Given the description of an element on the screen output the (x, y) to click on. 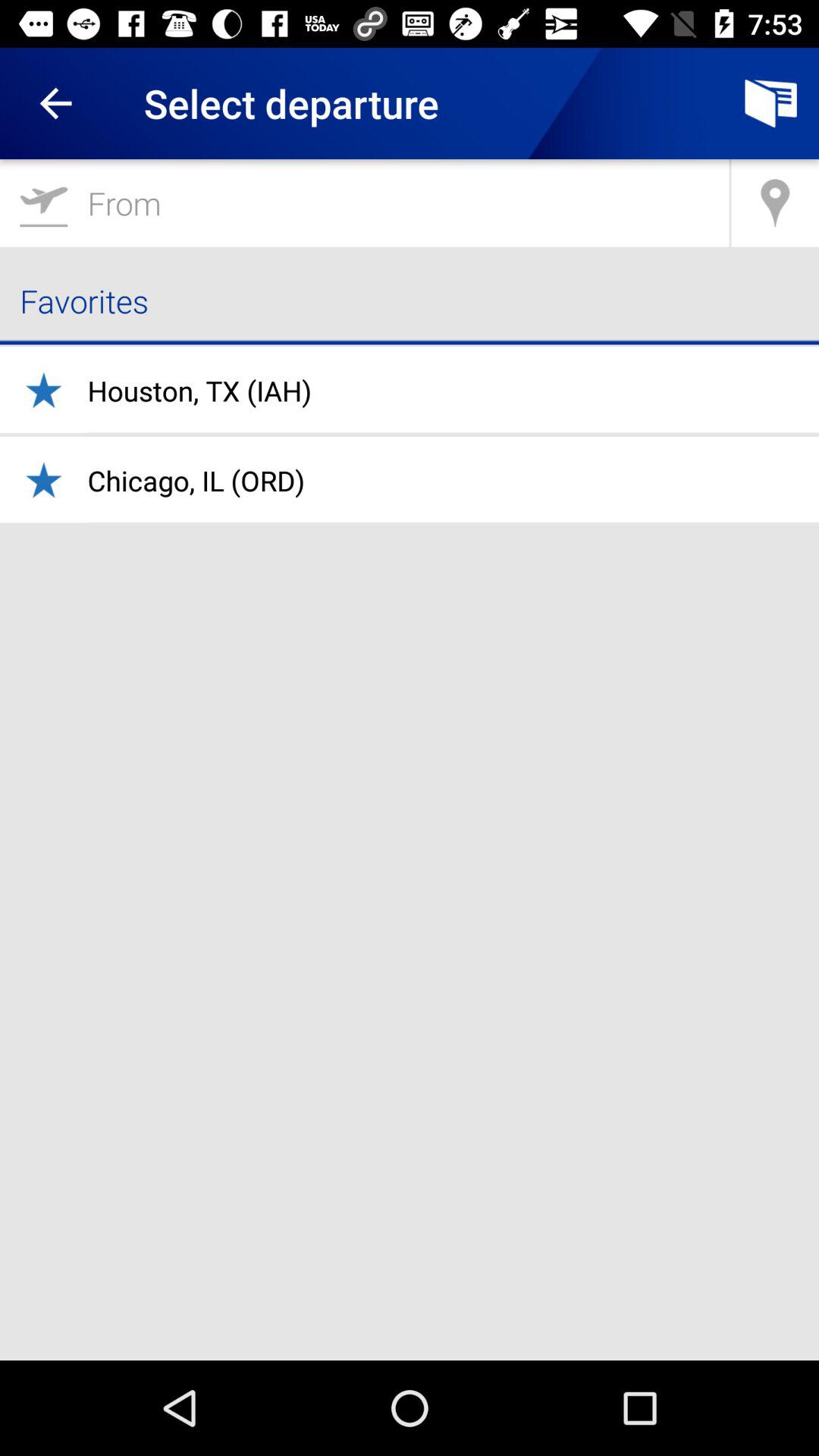
tap icon above the favorites icon (775, 202)
